Given the description of an element on the screen output the (x, y) to click on. 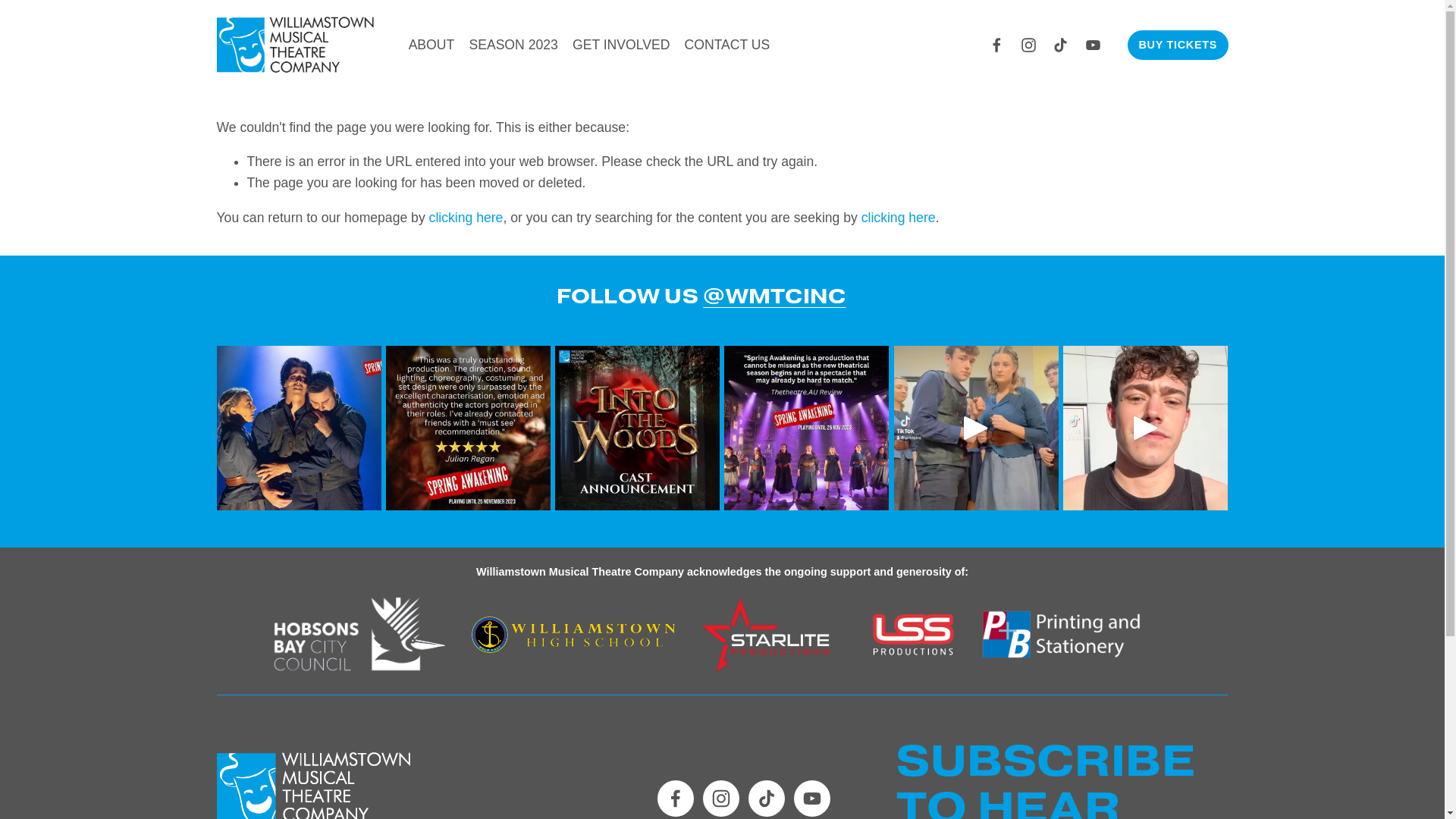
View fullsize Element type: text (467, 427)
ABOUT Element type: text (431, 44)
CONTACT US Element type: text (727, 44)
GET INVOLVED Element type: text (620, 44)
clicking here Element type: text (898, 217)
View fullsize Element type: text (298, 427)
BUY TICKETS Element type: text (1177, 44)
View fullsize Element type: text (637, 427)
@WMTCINC Element type: text (773, 297)
clicking here Element type: text (466, 217)
View fullsize Element type: text (806, 427)
SEASON 2023 Element type: text (512, 44)
